Given the description of an element on the screen output the (x, y) to click on. 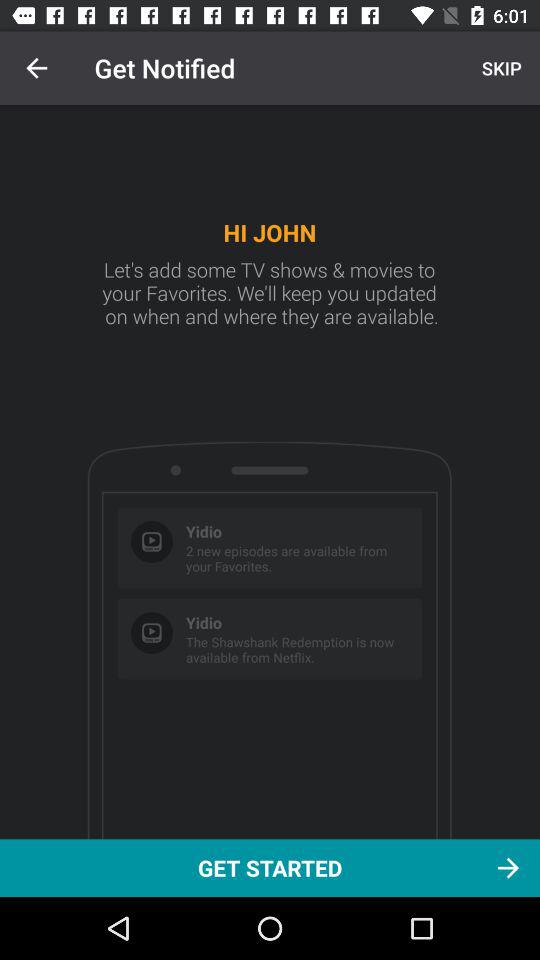
press icon above get started icon (499, 67)
